Given the description of an element on the screen output the (x, y) to click on. 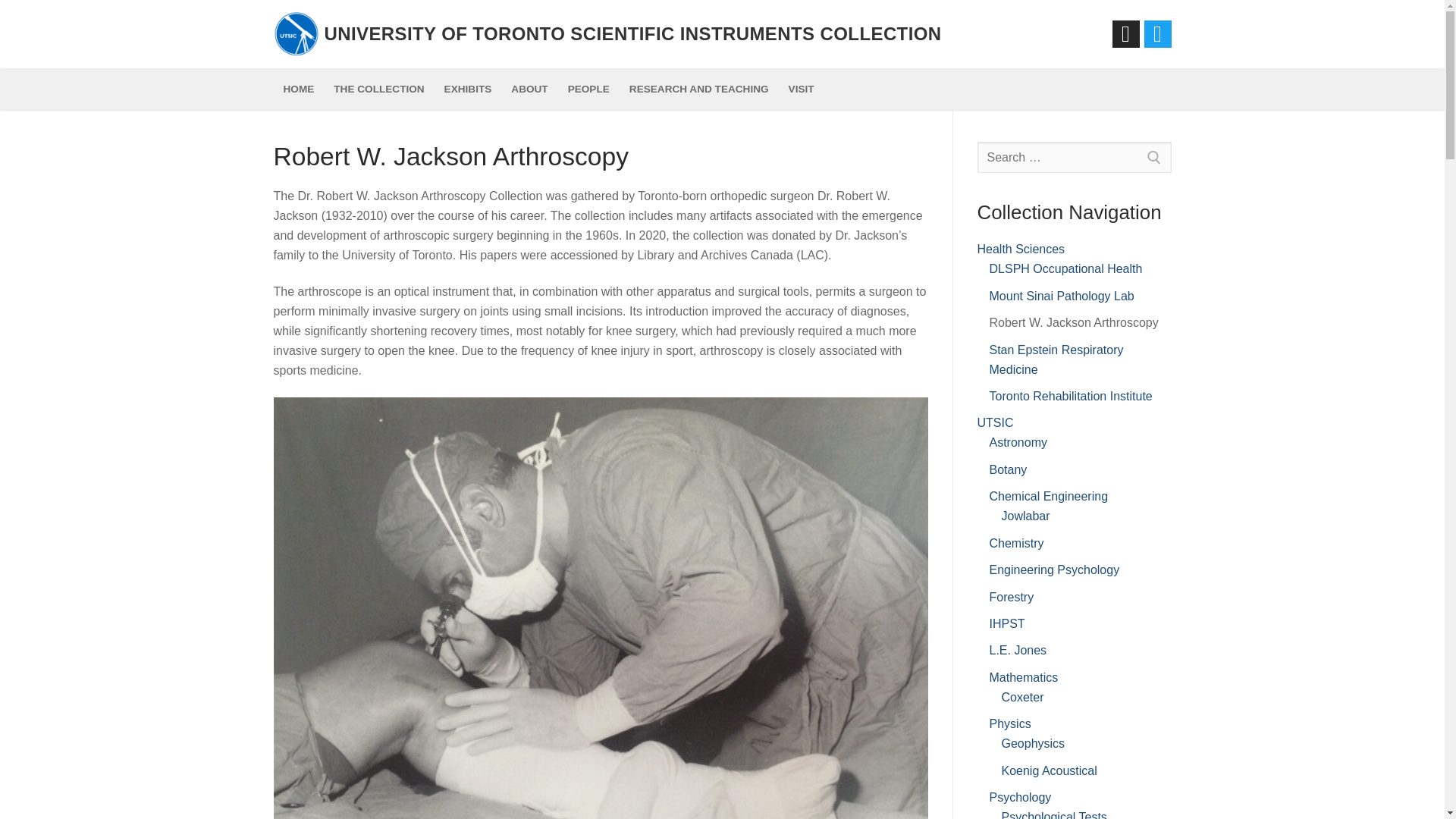
PEOPLE (588, 89)
EXHIBITS (467, 89)
ABOUT (528, 89)
Search for: (1073, 157)
RESEARCH AND TEACHING (699, 89)
UNIVERSITY OF TORONTO SCIENTIFIC INSTRUMENTS COLLECTION (633, 33)
VISIT (801, 89)
Twitter (1158, 33)
HOME (298, 89)
THE COLLECTION (378, 89)
Instagram (1126, 33)
